Given the description of an element on the screen output the (x, y) to click on. 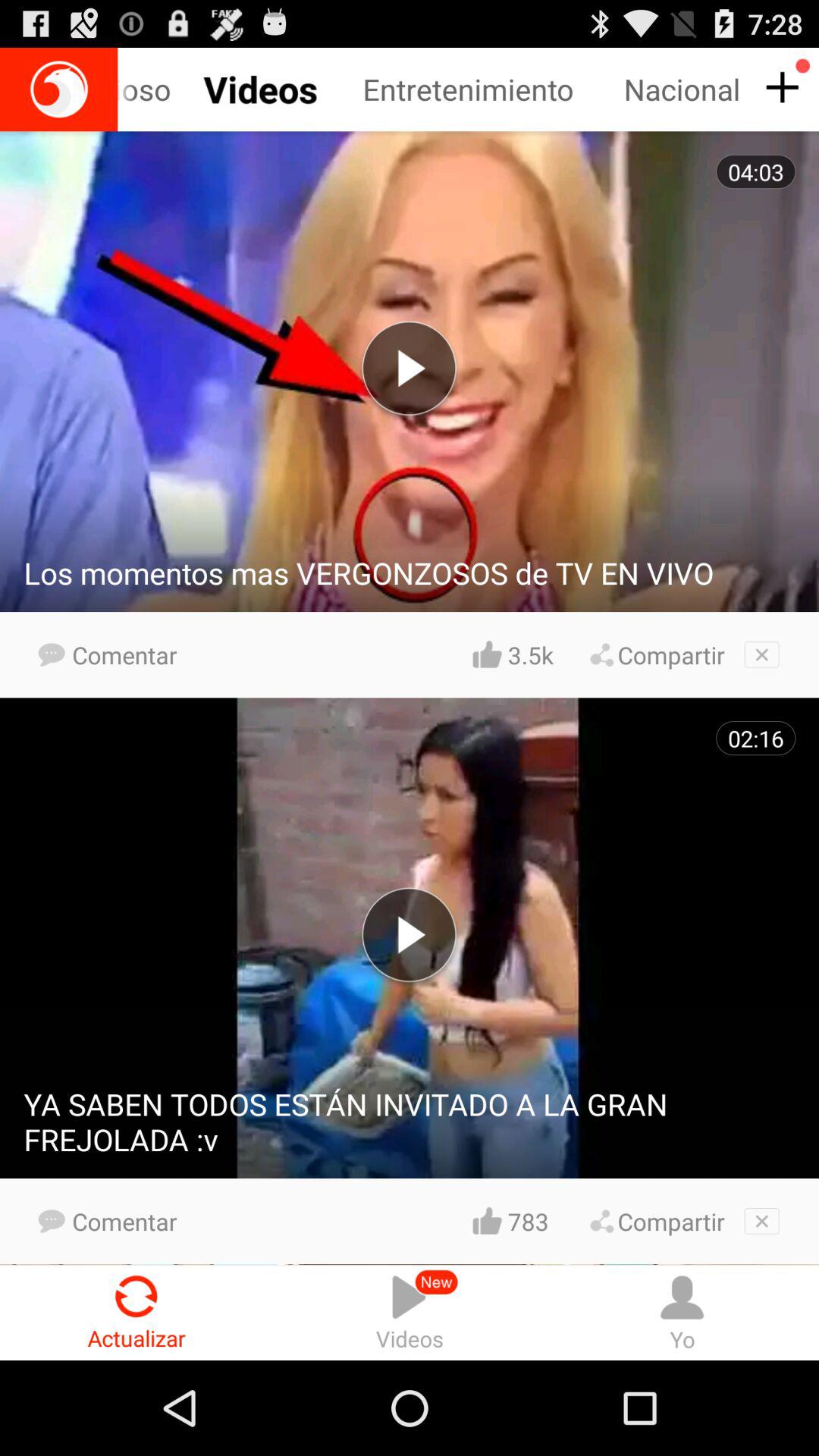
choose the item to the left of videos radio button (136, 1312)
